Given the description of an element on the screen output the (x, y) to click on. 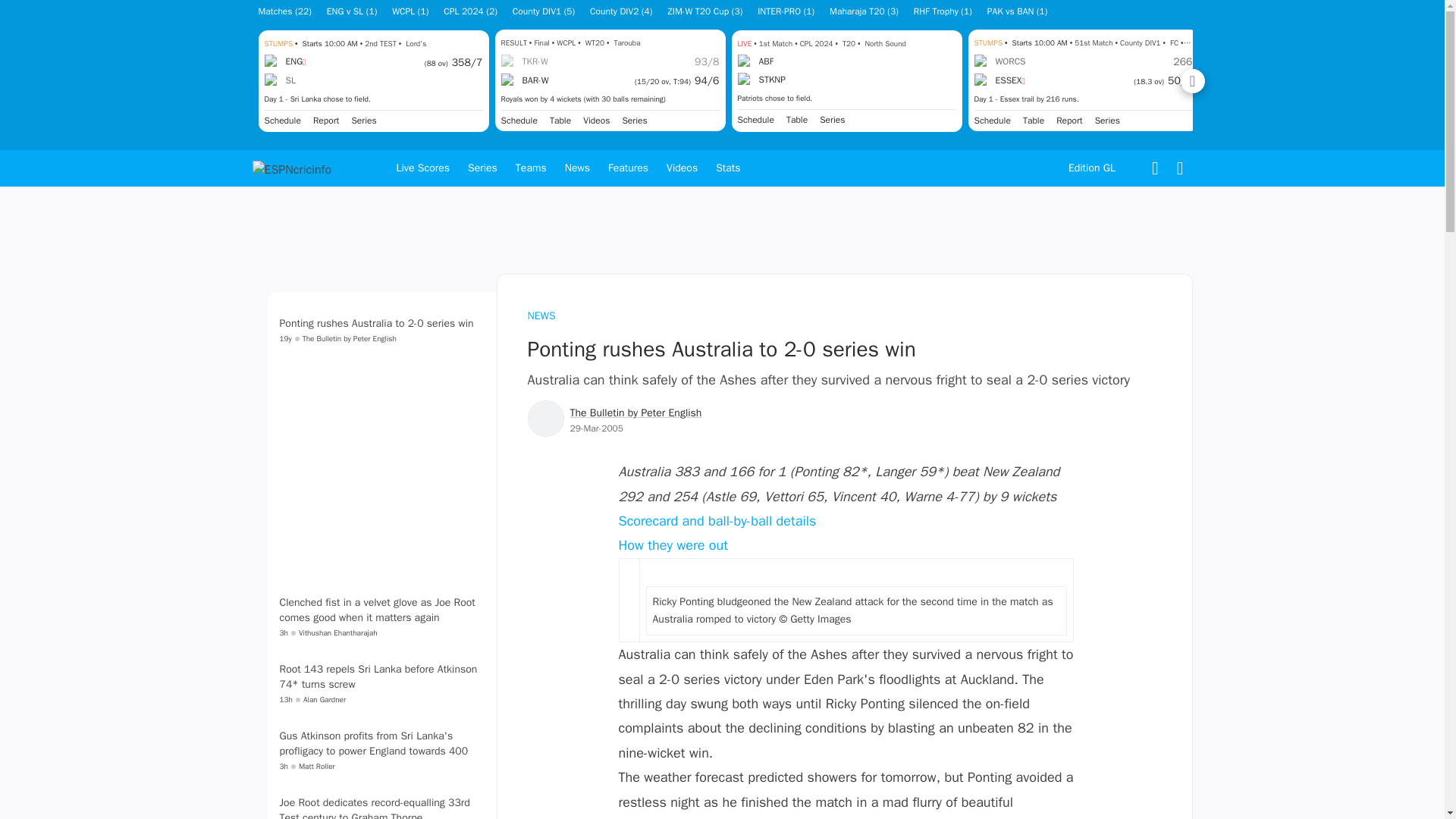
Report (326, 120)
Table (1033, 120)
Caribbean Premier League (831, 119)
Schedule (754, 119)
Series (633, 120)
Schedule (992, 120)
Report (326, 120)
Schedule (281, 120)
Table (797, 119)
Schedule (518, 120)
